Given the description of an element on the screen output the (x, y) to click on. 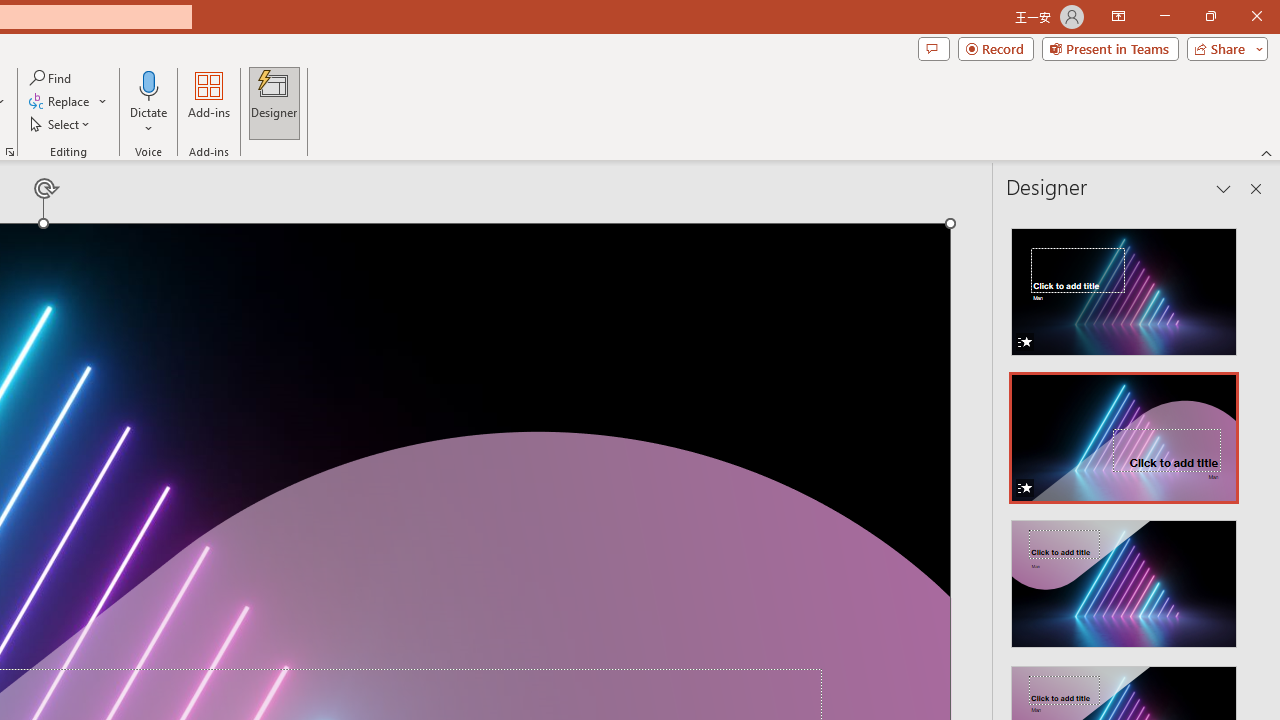
Dictate (149, 84)
Dictate (149, 102)
More Options (149, 121)
Task Pane Options (1224, 188)
Share (1223, 48)
Select (61, 124)
Ribbon Display Options (1118, 16)
Restore Down (1210, 16)
Design Idea (1124, 577)
Replace... (68, 101)
Format Object... (9, 151)
Close (1256, 16)
